Given the description of an element on the screen output the (x, y) to click on. 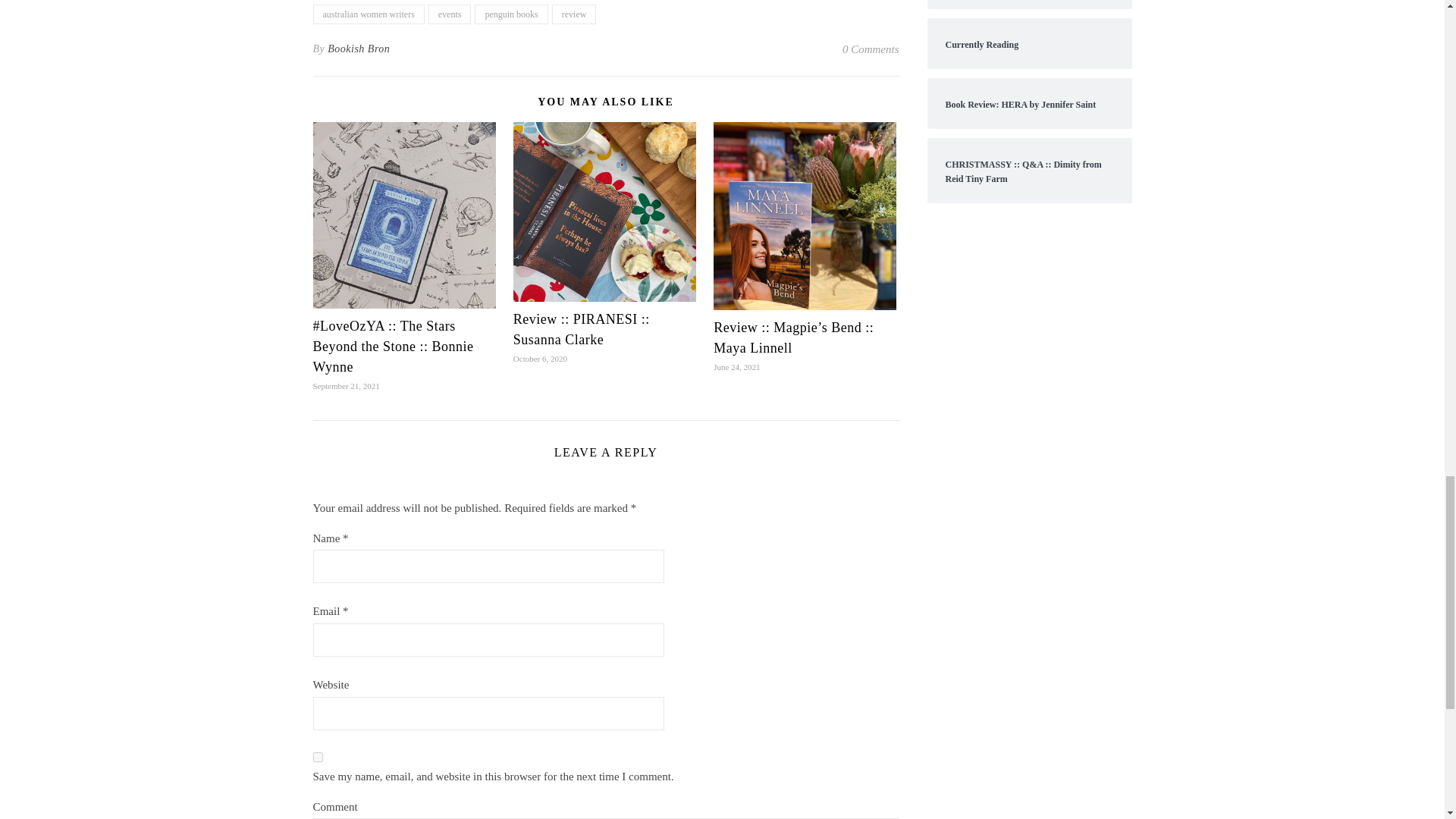
yes (317, 757)
australian women writers (368, 14)
0 Comments (871, 48)
Bookish Bron (358, 48)
Review :: PIRANESI :: Susanna Clarke (581, 329)
review (573, 14)
events (449, 14)
Posts by Bookish Bron (358, 48)
penguin books (510, 14)
